Given the description of an element on the screen output the (x, y) to click on. 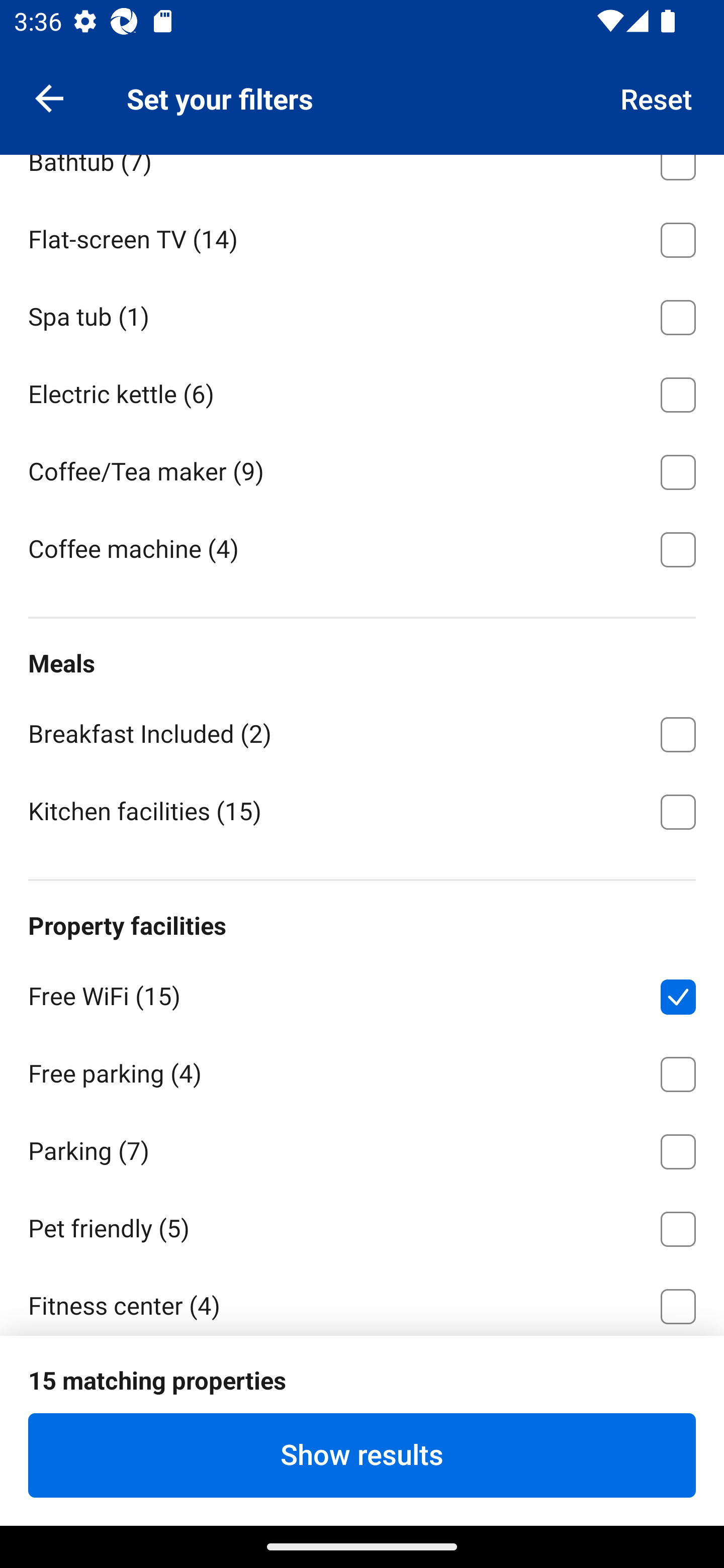
View ⁦(11) (361, 81)
Navigate up (49, 97)
Reset (656, 97)
Bathtub ⁦(7) (361, 176)
Flat-screen TV ⁦(14) (361, 236)
Spa tub ⁦(1) (361, 313)
Electric kettle ⁦(6) (361, 390)
Coffee/Tea maker ⁦(9) (361, 468)
Coffee machine ⁦(4) (361, 548)
Breakfast Included ⁦(2) (361, 731)
Kitchen facilities ⁦(15) (361, 810)
Free WiFi ⁦(15) (361, 992)
Free parking ⁦(4) (361, 1070)
Parking ⁦(7) (361, 1148)
Pet friendly ⁦(5) (361, 1224)
Fitness center ⁦(4) (361, 1299)
24-hour front desk ⁦(5) (361, 1380)
Non-smoking rooms ⁦(6) (361, 1457)
